Given the description of an element on the screen output the (x, y) to click on. 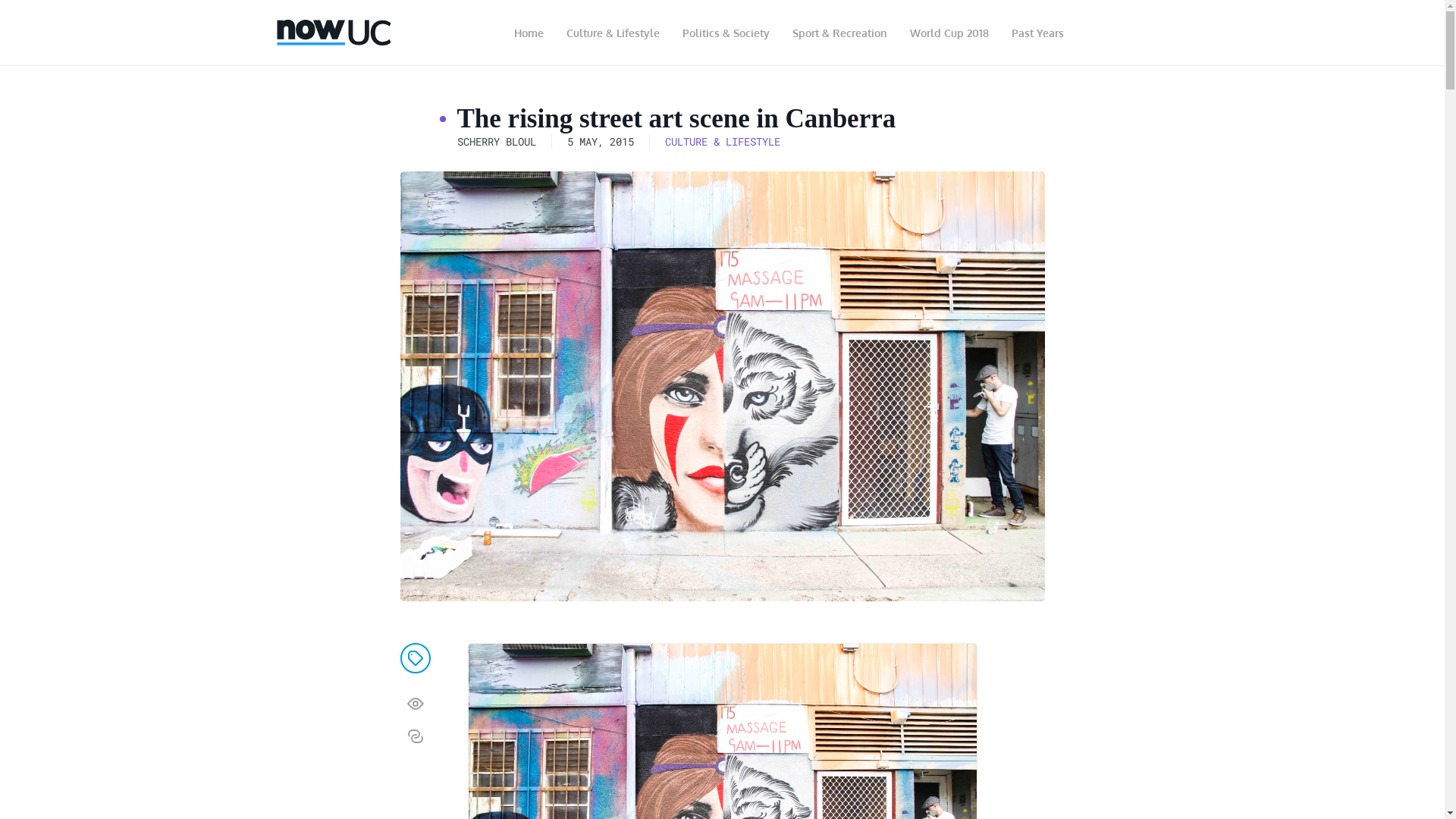
Culture & Lifestyle Element type: text (613, 32)
Republish Article Element type: hover (415, 736)
Sport & Recreation Element type: text (839, 32)
Politics & Society Element type: text (725, 32)
Home Element type: text (528, 32)
NowUC Element type: text (332, 32)
World Cup 2018 Element type: text (948, 32)
SCHERRY BLOUL Element type: text (495, 141)
Past Years Element type: text (1036, 32)
